Given the description of an element on the screen output the (x, y) to click on. 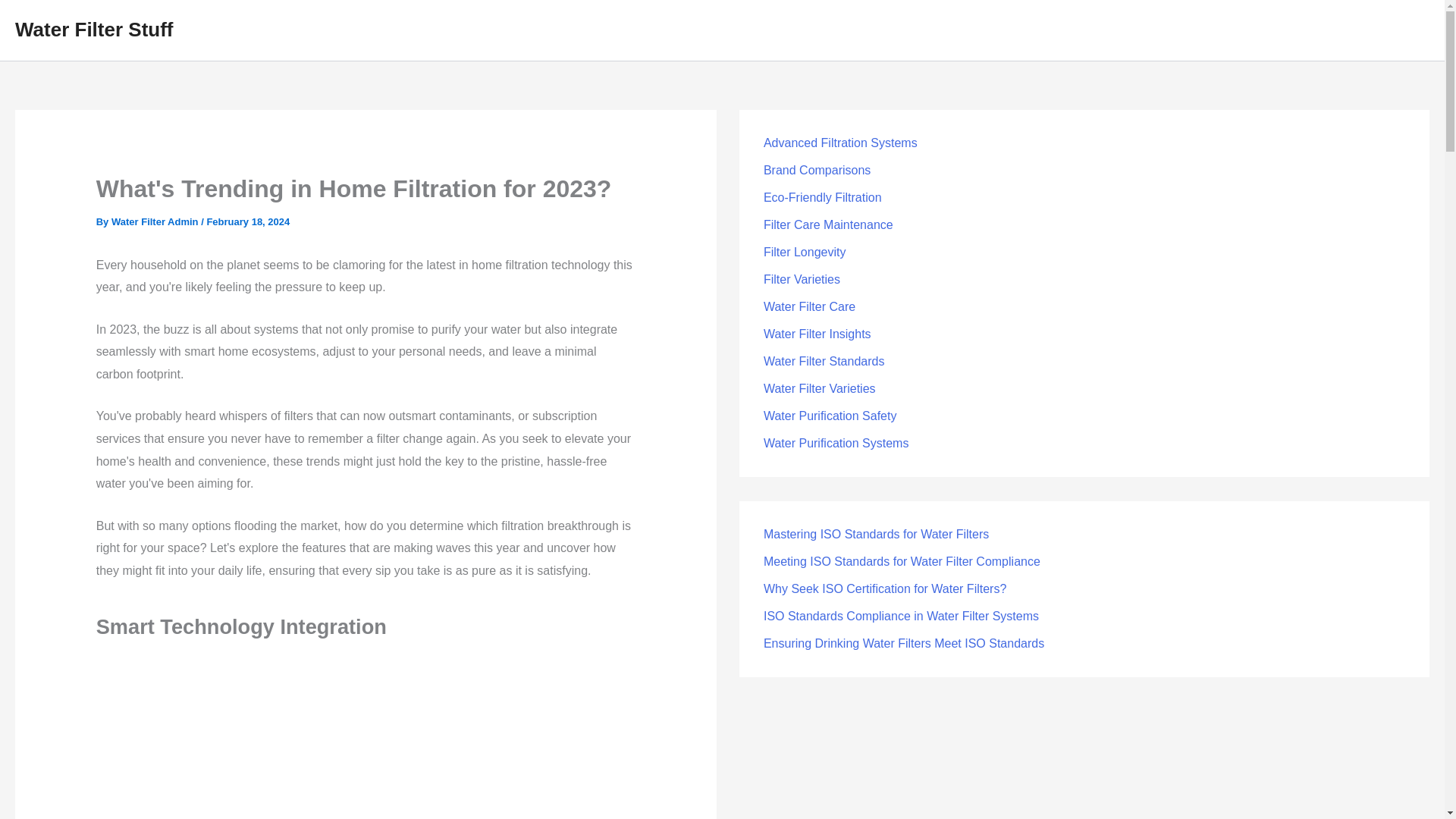
Filter Longevity (803, 251)
Meeting ISO Standards for Water Filter Compliance (901, 561)
ISO Standards Compliance in Water Filter Systems (900, 615)
Ensuring Drinking Water Filters Meet ISO Standards (902, 643)
Water Filter Stuff (93, 29)
Eco-Friendly Filtration (822, 196)
Water Filter Admin (156, 221)
Filter Varieties (801, 278)
Brand Comparisons (816, 169)
Water Filter Varieties (819, 388)
Mastering ISO Standards for Water Filters (875, 533)
Filter Care Maintenance (827, 224)
Why Seek ISO Certification for Water Filters? (884, 588)
Water Purification Safety (829, 415)
Water Filter Standards (822, 360)
